Given the description of an element on the screen output the (x, y) to click on. 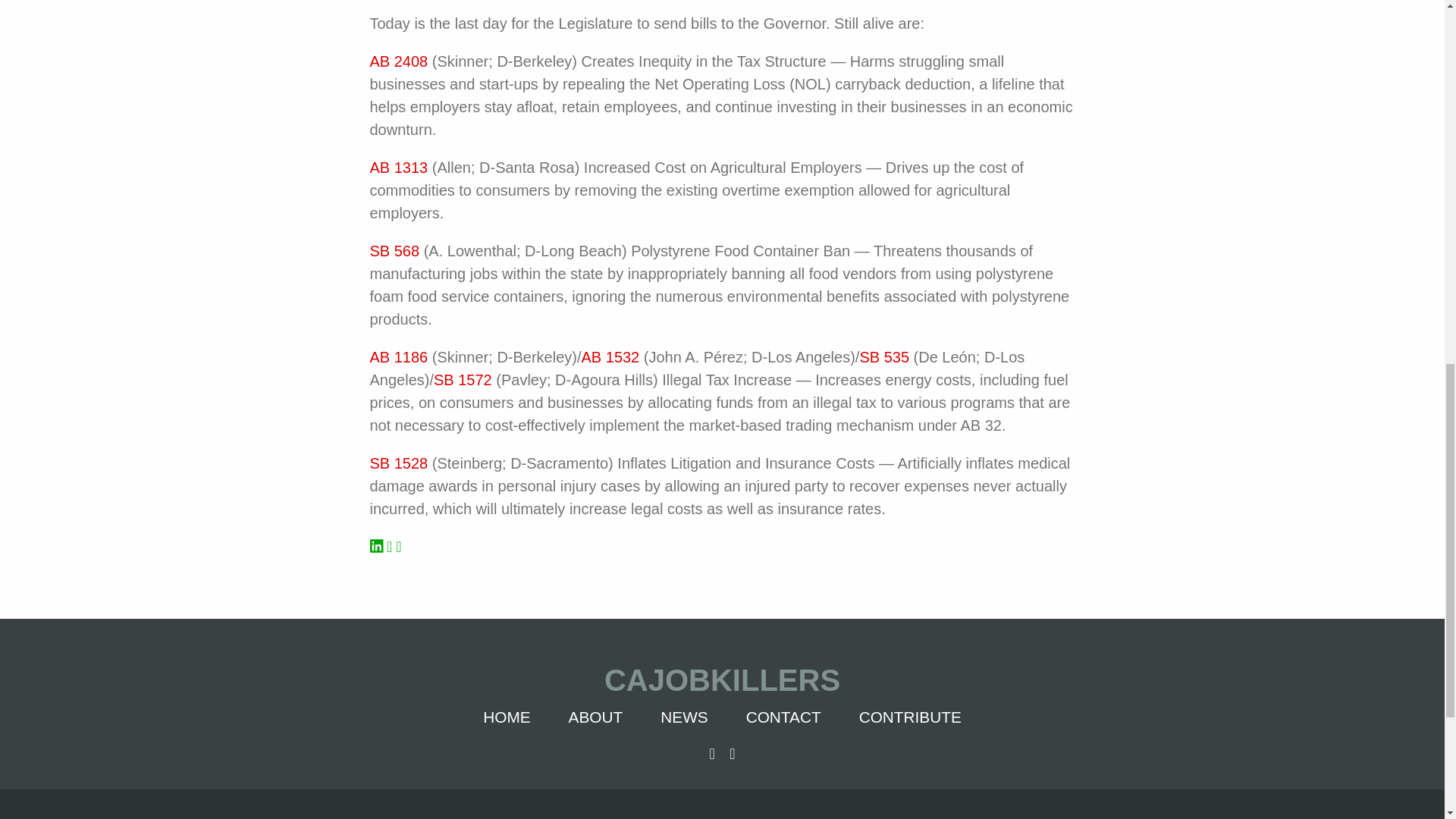
NEWS (684, 716)
CONTRIBUTE (909, 716)
SB 568 (394, 250)
ABOUT (596, 716)
SB 1572 (462, 379)
CONTACT (783, 716)
AB 1313 (398, 167)
SB 1528 (398, 463)
CAJOBKILLERS (722, 680)
AB 1186 (400, 356)
AB 1532 (610, 356)
SB 535 (883, 356)
HOME (506, 716)
AB 2408 (398, 61)
